Given the description of an element on the screen output the (x, y) to click on. 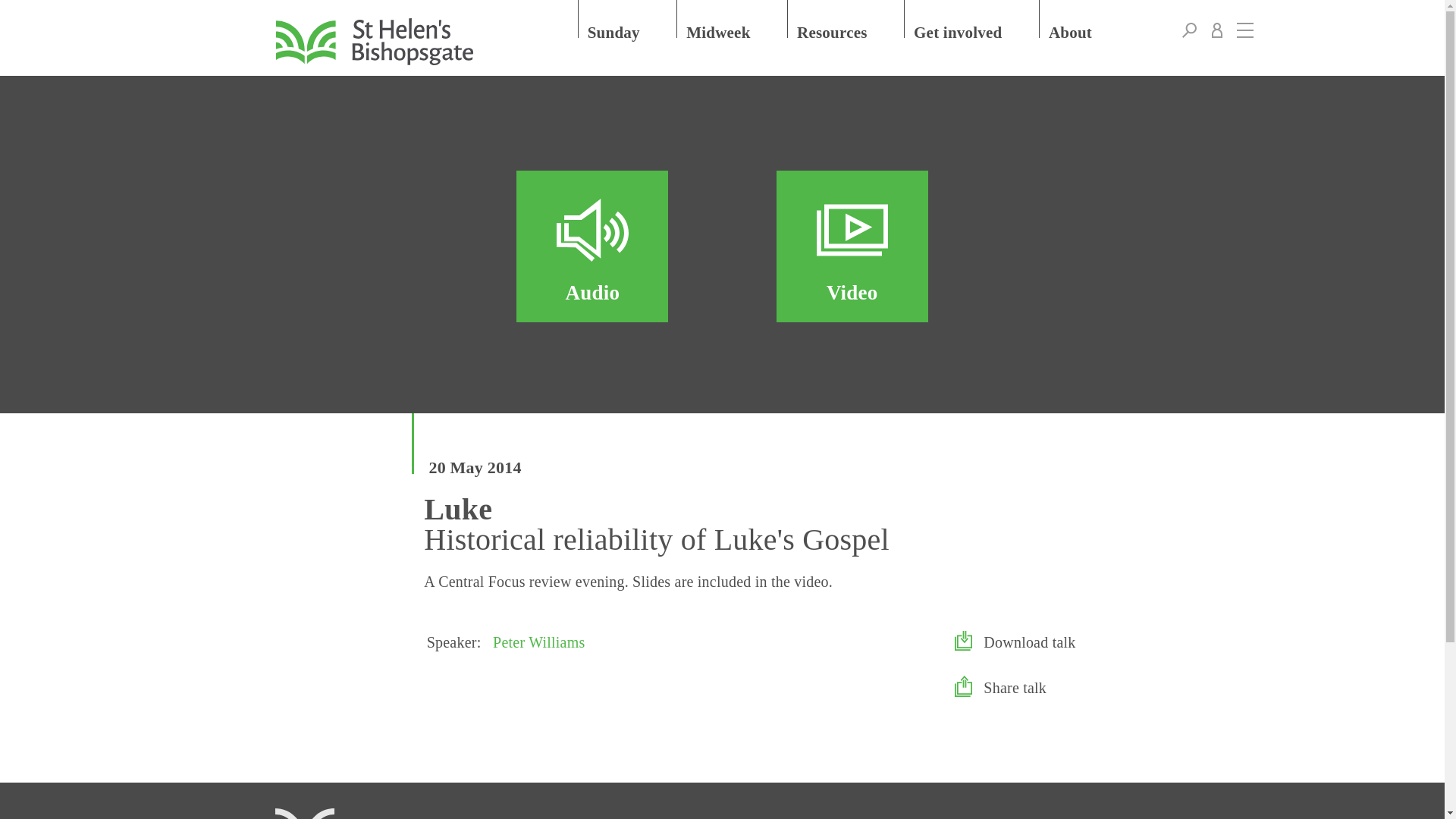
About (1085, 18)
Get involved (972, 18)
Resources (846, 18)
Sunday (628, 18)
Midweek (732, 18)
